Given the description of an element on the screen output the (x, y) to click on. 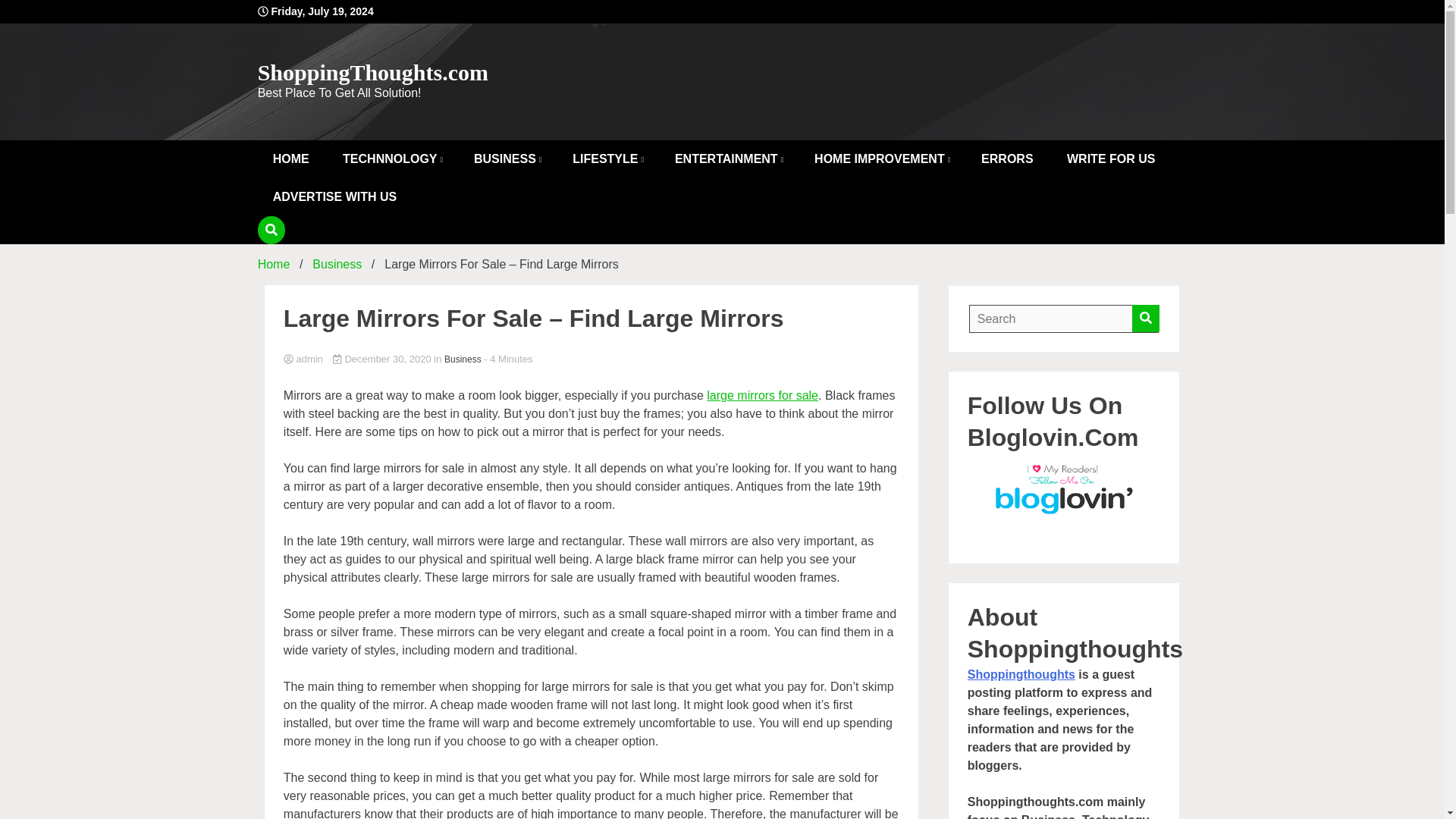
Business (337, 264)
WRITE FOR US (1110, 159)
ENTERTAINMENT (727, 159)
Estimated Reading Time of Article (507, 358)
ADVERTISE WITH US (334, 197)
admin (591, 359)
Business (462, 359)
December 30, 2020 (383, 358)
LIFESTYLE (606, 159)
ShoppingThoughts.com (372, 72)
ERRORS (1007, 159)
HOME IMPROVEMENT (880, 159)
HOME (290, 159)
large mirrors for sale (762, 395)
Home (273, 264)
